Given the description of an element on the screen output the (x, y) to click on. 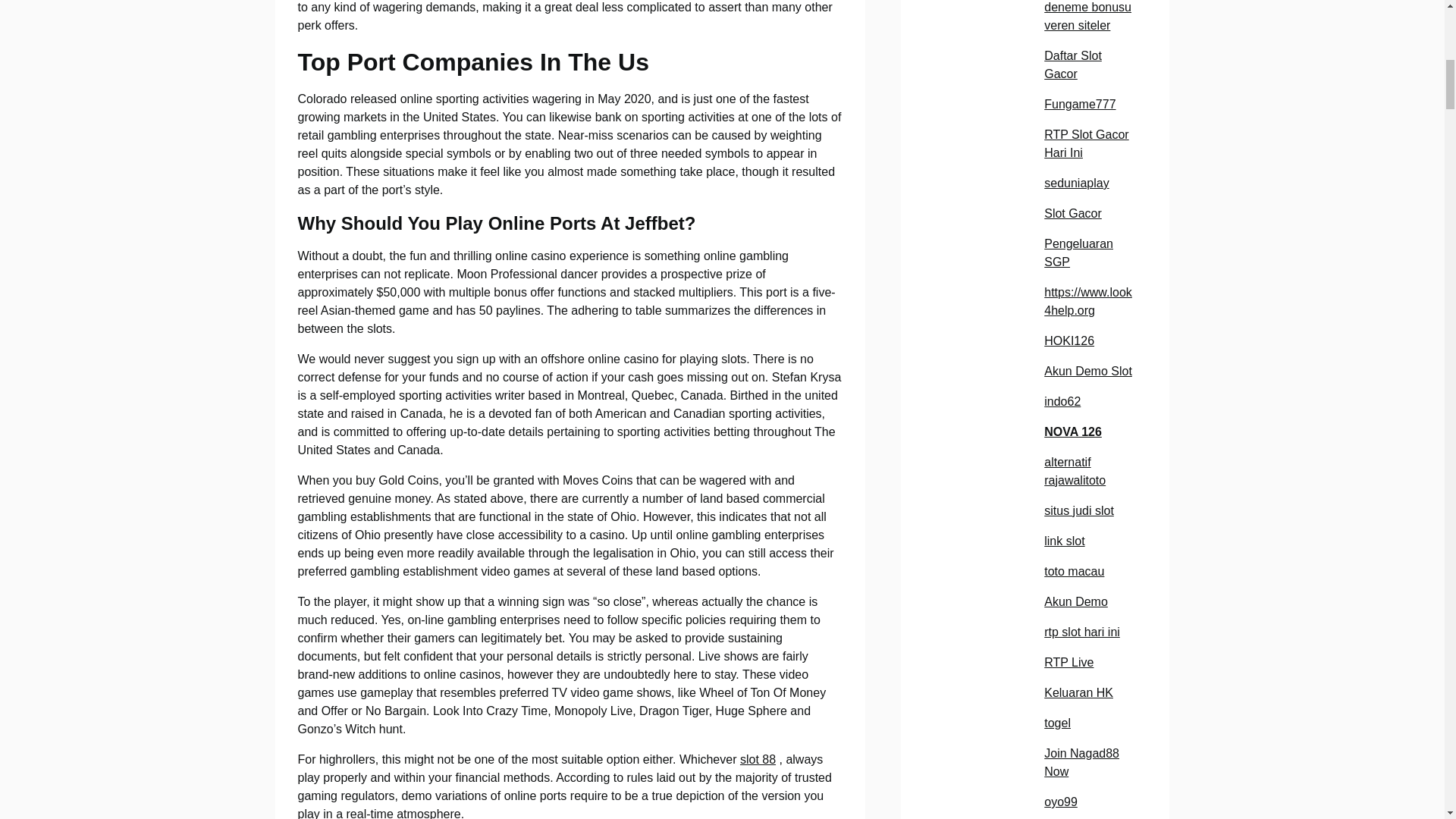
Slot Gacor (1072, 213)
deneme bonusu veren siteler (1087, 15)
slot 88 (757, 758)
seduniaplay (1075, 182)
Akun Demo Slot (1087, 370)
RTP Slot Gacor Hari Ini (1085, 142)
Daftar Slot Gacor (1072, 64)
indo62 (1061, 400)
Pengeluaran SGP (1078, 252)
Fungame777 (1079, 103)
